Given the description of an element on the screen output the (x, y) to click on. 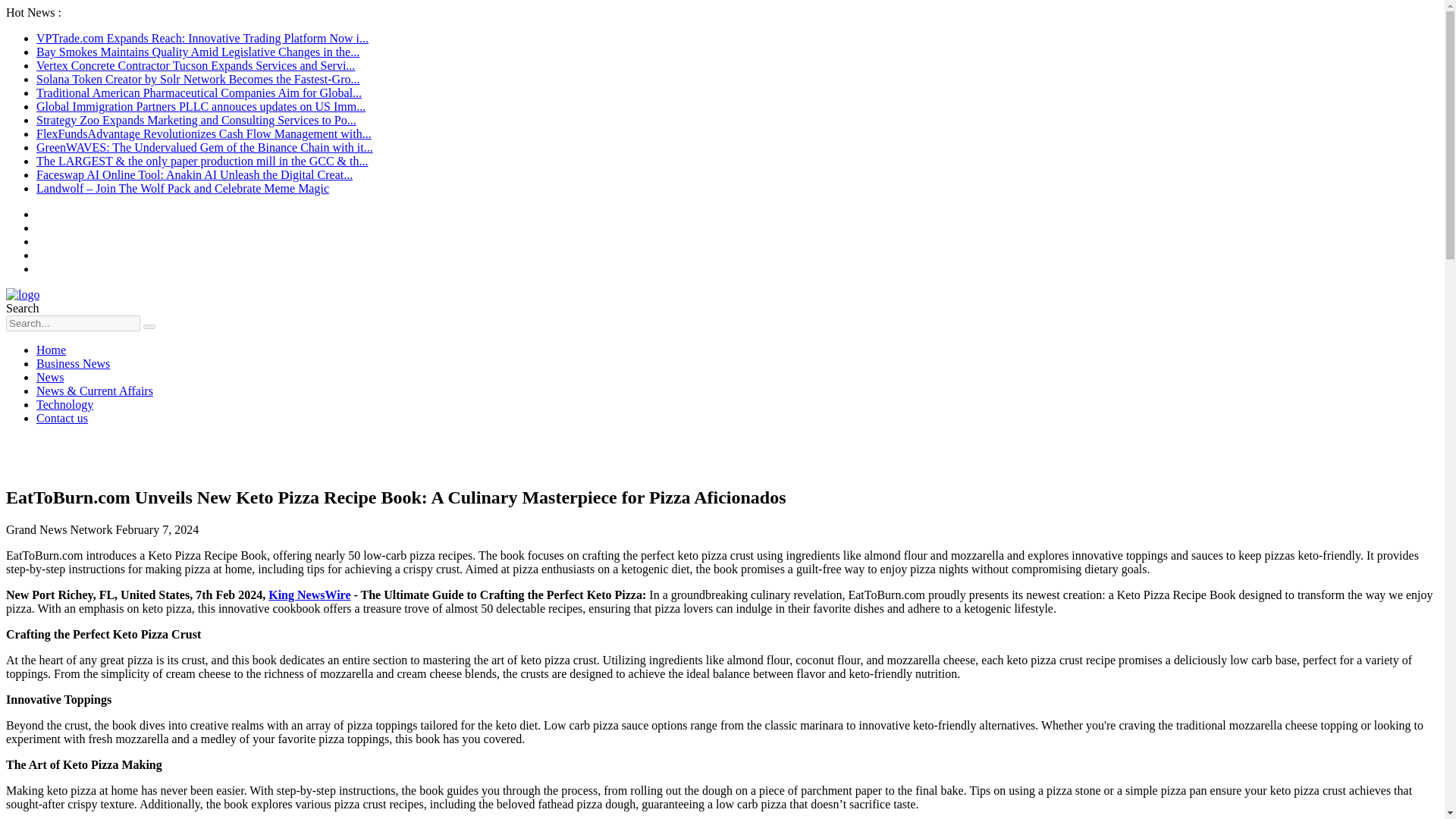
Home (50, 349)
Business News (73, 363)
Technology (64, 404)
Contact us (61, 418)
News (50, 377)
